Given the description of an element on the screen output the (x, y) to click on. 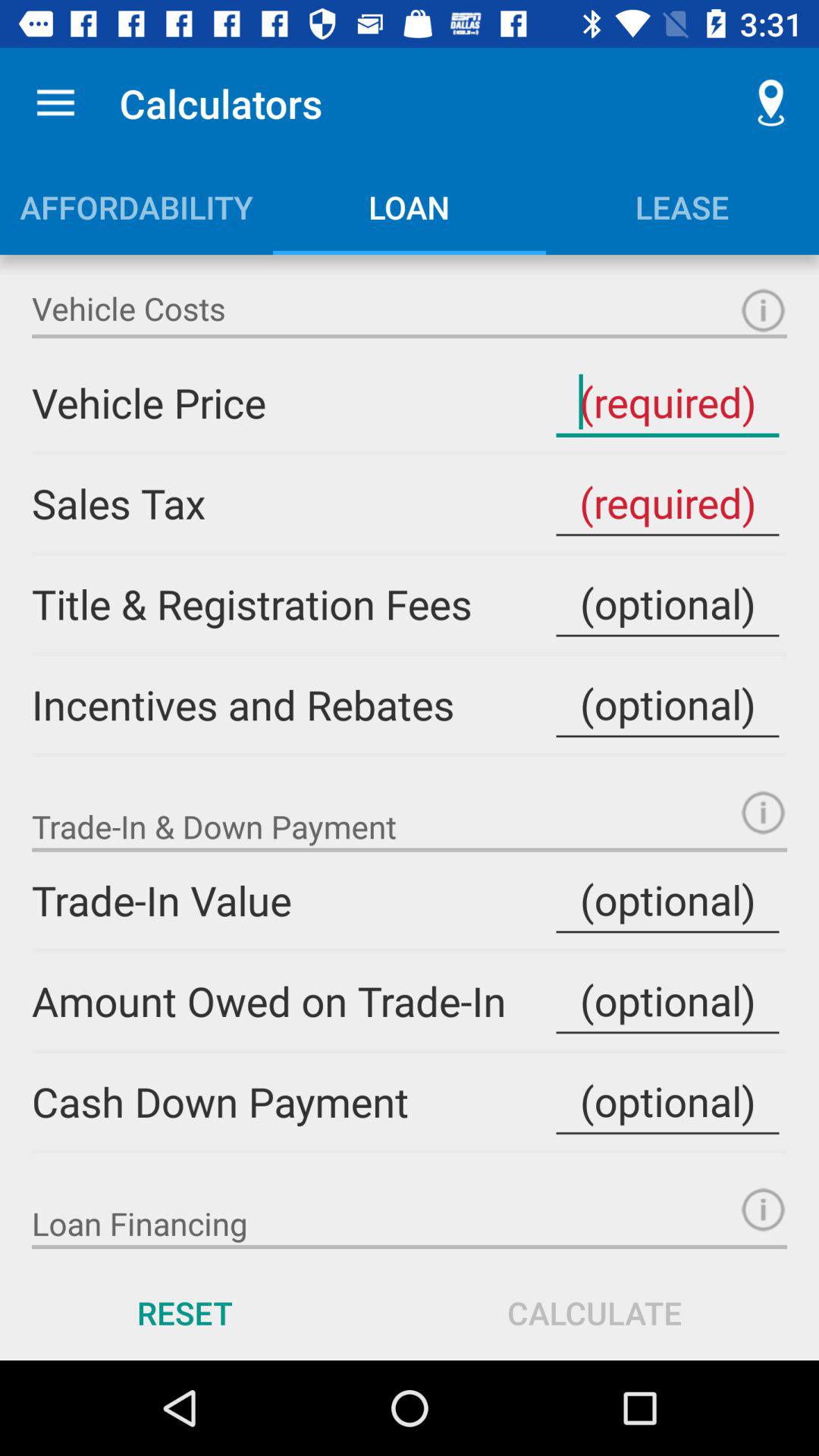
turn off the icon to the right of the reset item (594, 1312)
